Given the description of an element on the screen output the (x, y) to click on. 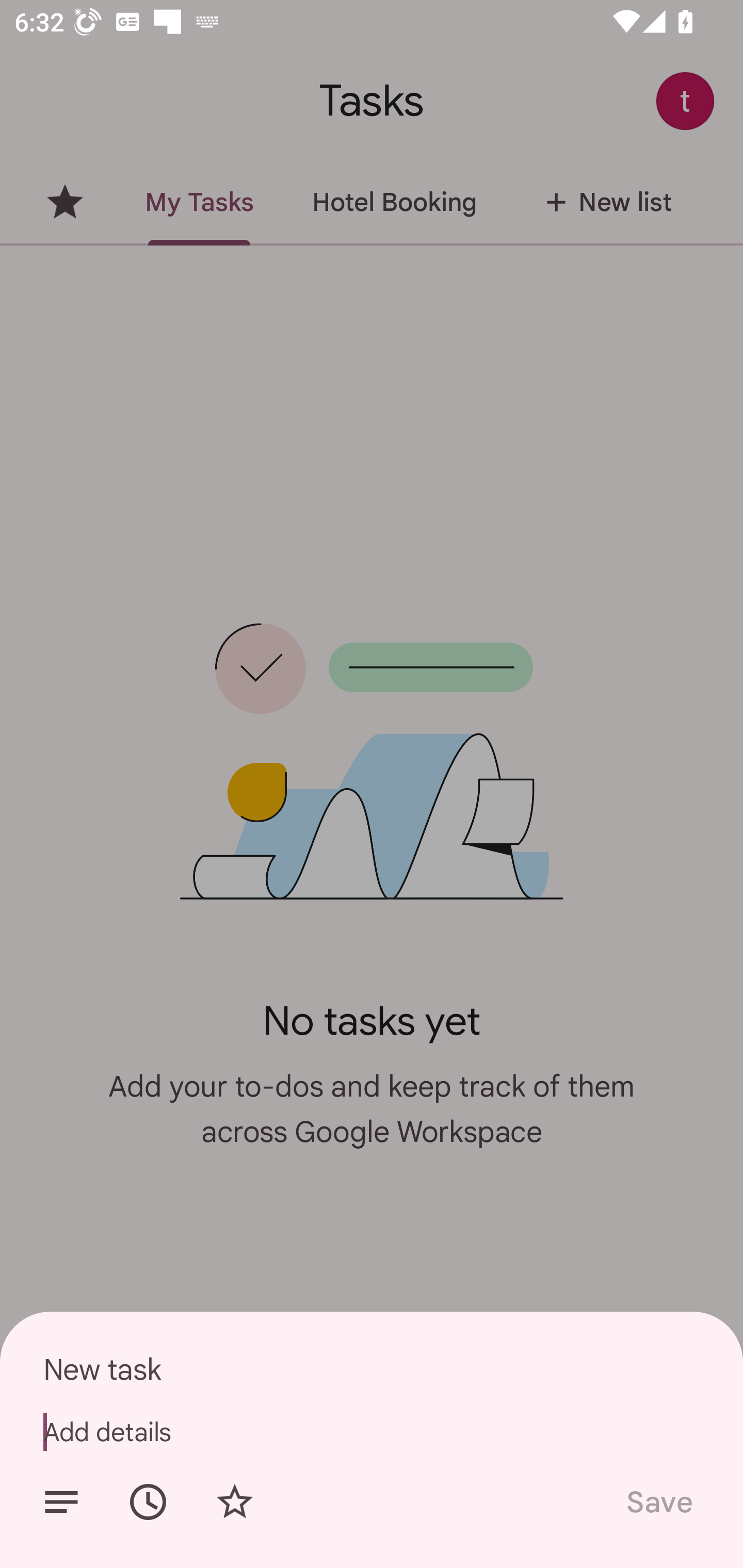
New task (371, 1369)
Add details (371, 1431)
Save (659, 1501)
Add details (60, 1501)
Set date/time (147, 1501)
Add star (234, 1501)
